Given the description of an element on the screen output the (x, y) to click on. 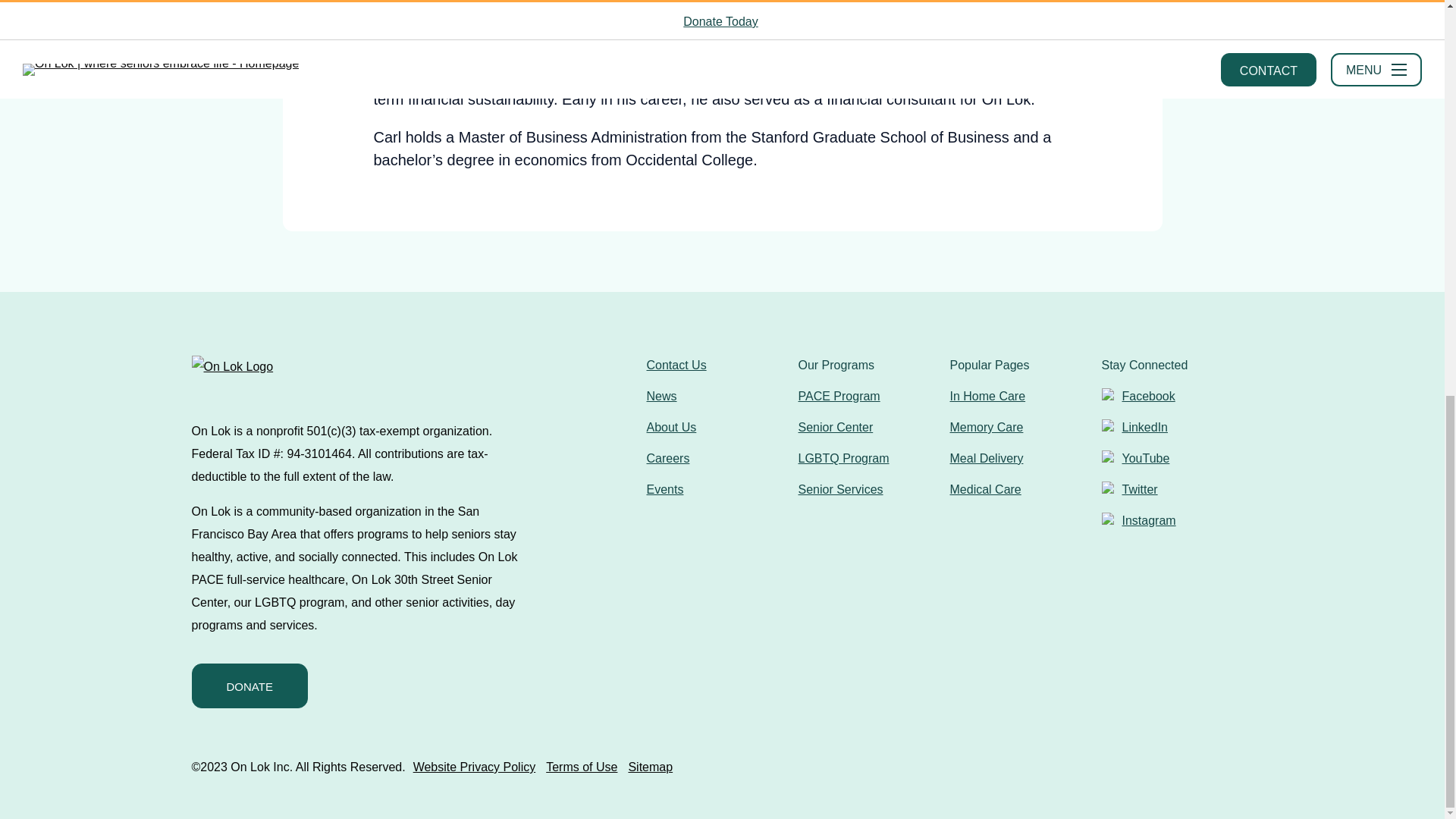
News (661, 395)
About Us (670, 427)
Contact Us (676, 364)
Facebook (1137, 395)
Terms of Use (581, 766)
Website Privacy Policy (474, 766)
Senior Center (834, 427)
Events (664, 489)
LGBTQ Program (842, 458)
PACE Program (838, 395)
